Given the description of an element on the screen output the (x, y) to click on. 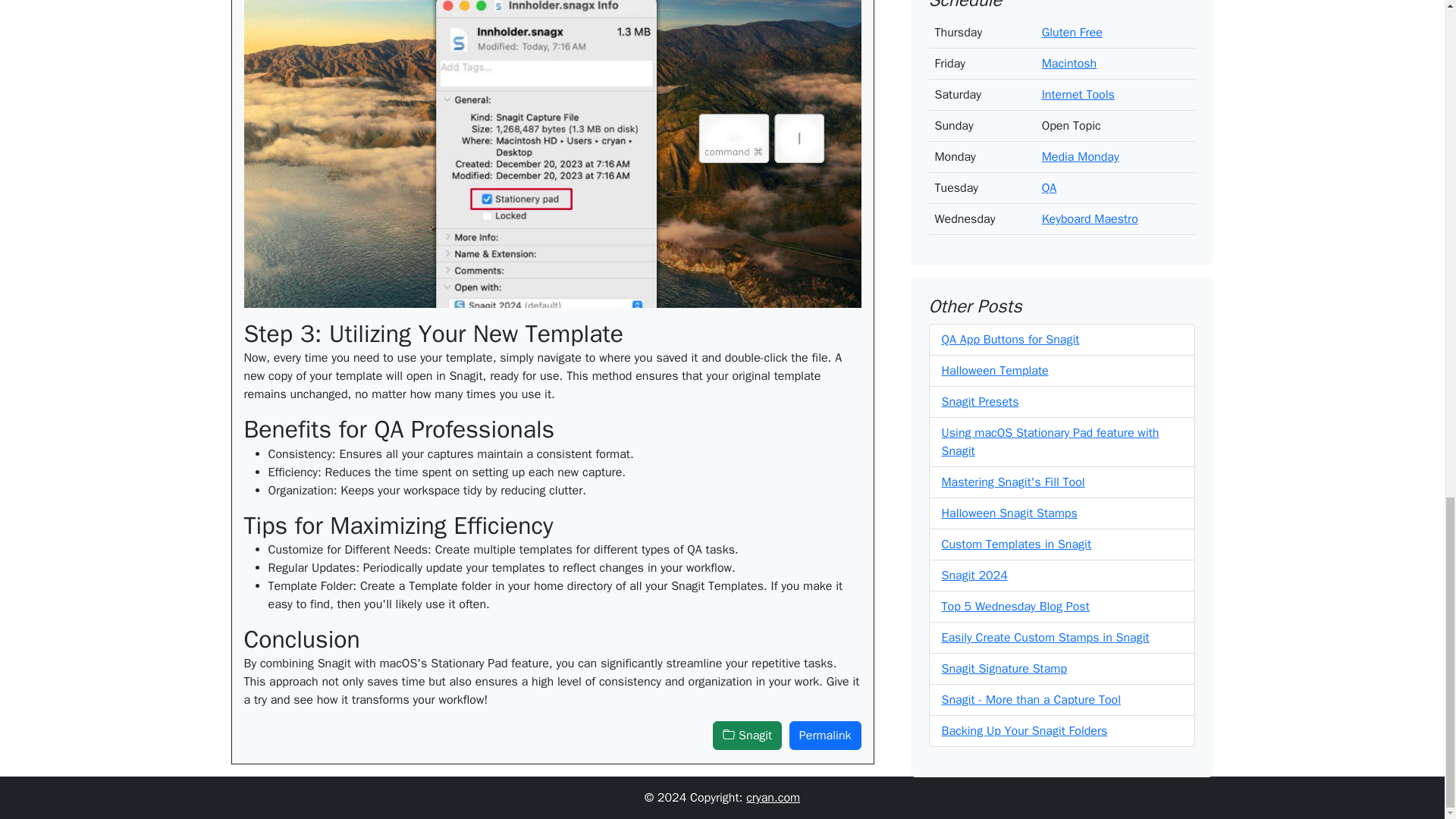
Permalink (825, 735)
Snagit (747, 735)
cryan.com (772, 797)
